Given the description of an element on the screen output the (x, y) to click on. 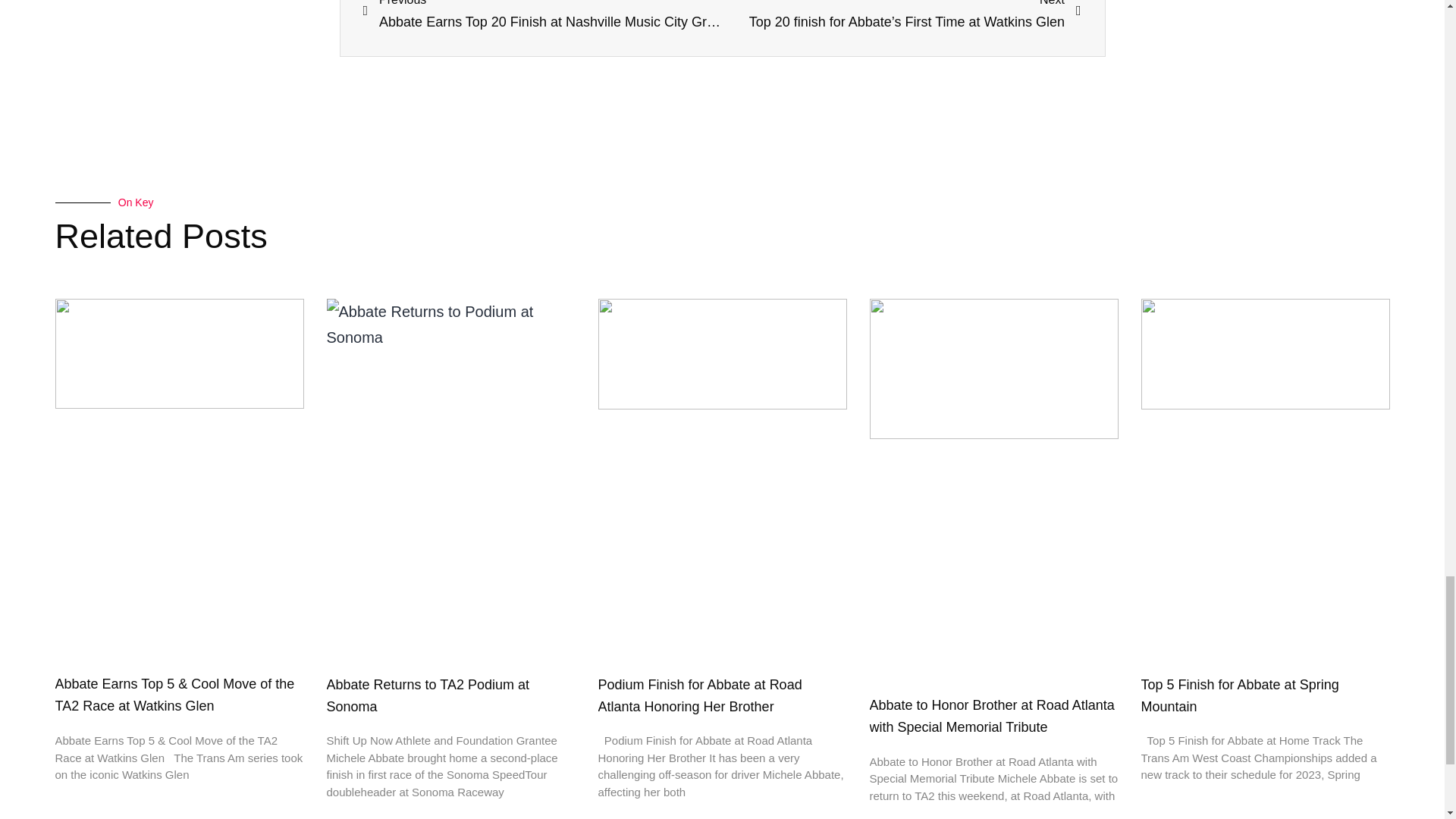
Abbate Returns to TA2 Podium at Sonoma (427, 695)
Top 5 Finish for Abbate at Spring Mountain (1239, 695)
